Given the description of an element on the screen output the (x, y) to click on. 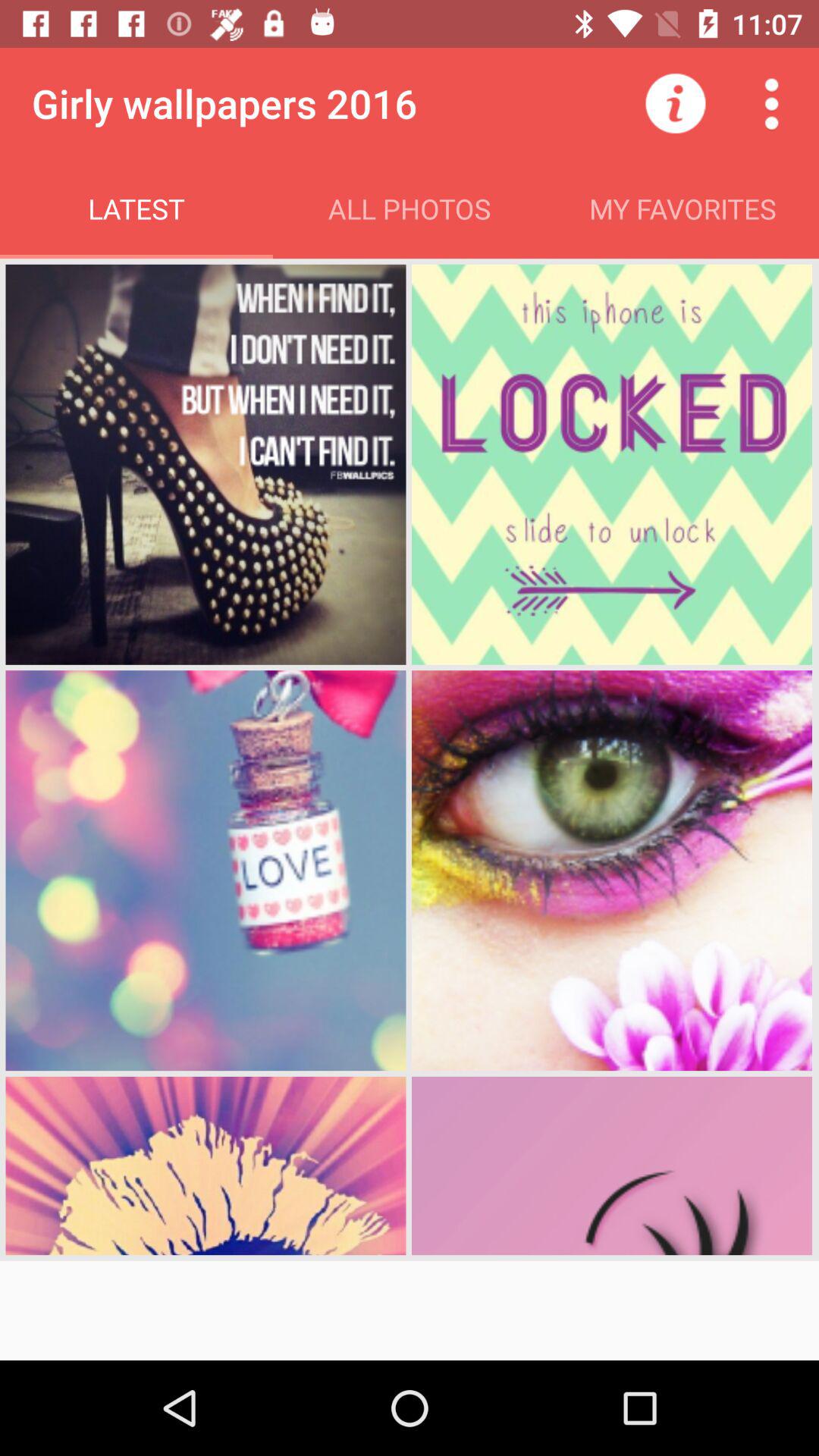
open menu (771, 103)
